Given the description of an element on the screen output the (x, y) to click on. 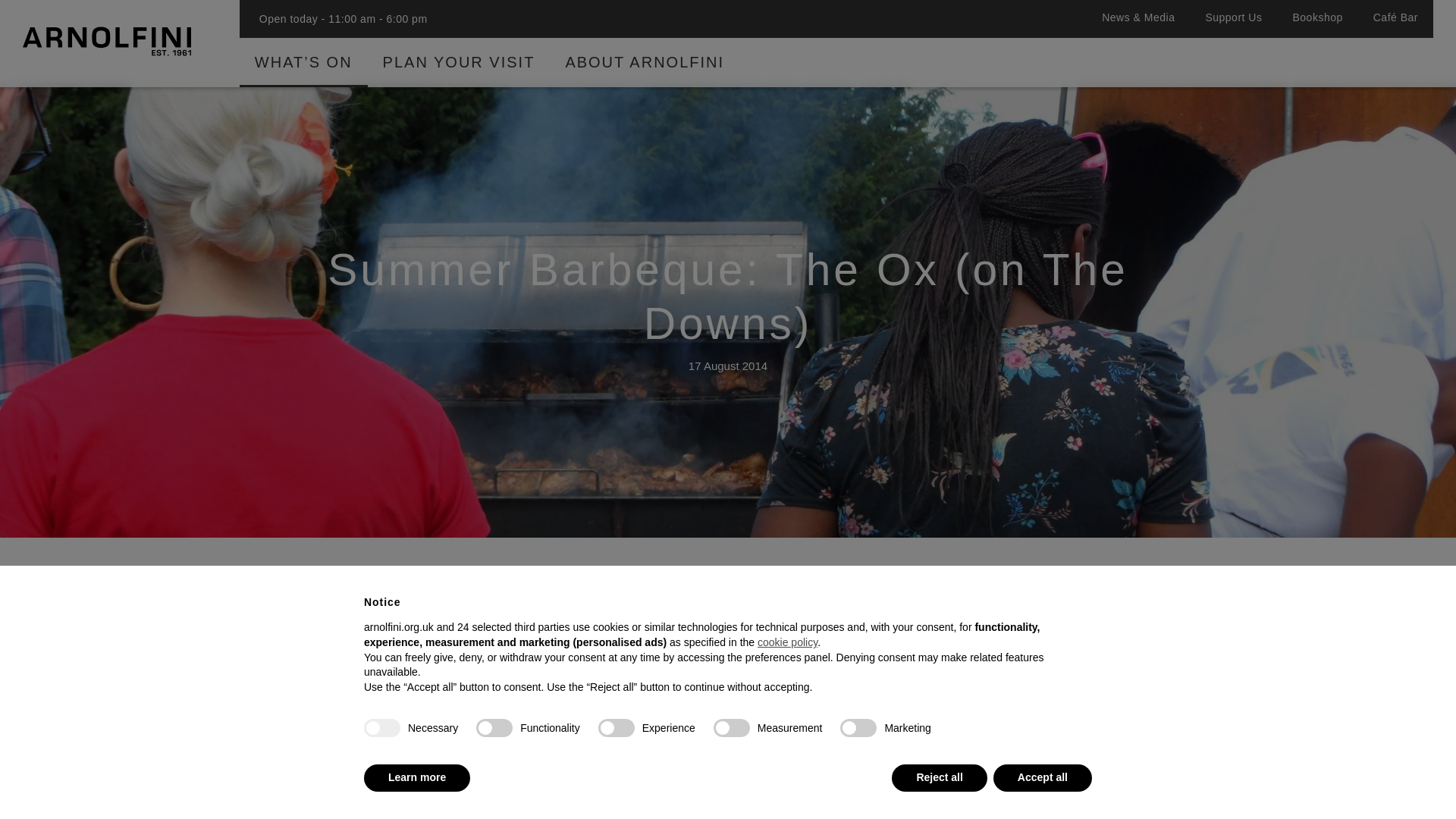
true (382, 728)
false (494, 728)
PLAN YOUR VISIT (459, 70)
false (731, 728)
false (858, 728)
The Promise (561, 791)
Support Us (1232, 24)
ABOUT ARNOLFINI (644, 70)
here (741, 748)
Bookshop (1316, 24)
